Given the description of an element on the screen output the (x, y) to click on. 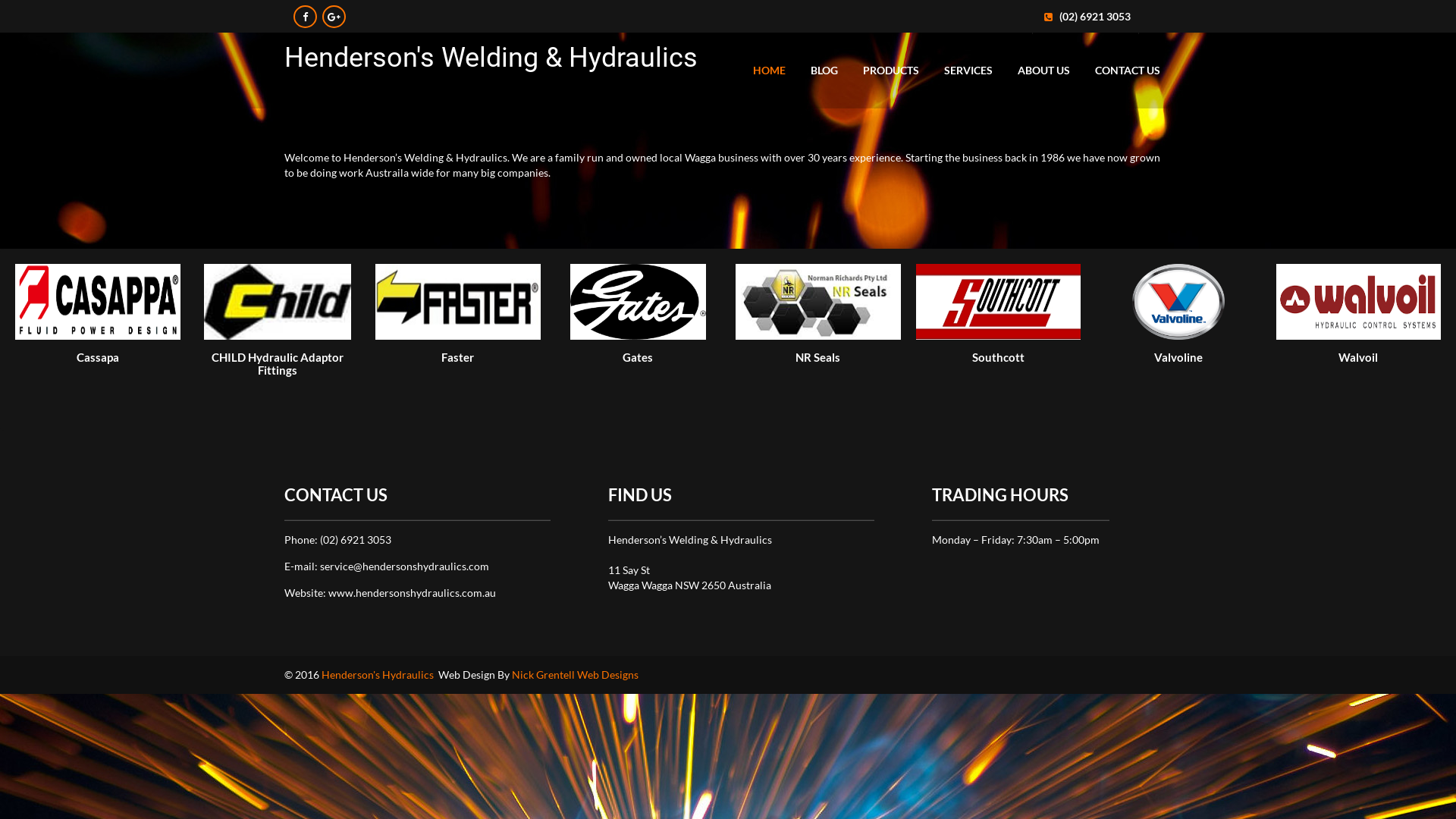
NR Seals Element type: hover (817, 301)
Gates Element type: hover (638, 319)
Gates Element type: hover (638, 301)
Valvoline Element type: hover (1178, 301)
Cassapa Element type: hover (97, 319)
CONTACT US Element type: text (1127, 70)
www.hendersonshydraulics.com.au Element type: text (411, 592)
11 Say St
Wagga Wagga NSW 2650 Australia Element type: text (689, 577)
Faster Element type: hover (457, 301)
Cassapa Element type: hover (97, 301)
BLOG Element type: text (824, 70)
CHILD Hydraulic Adaptor Fittings Element type: hover (277, 319)
Walvoil Element type: hover (1357, 319)
google-plus Element type: hover (333, 16)
Walvoil Element type: hover (1357, 301)
Faster Element type: text (457, 384)
Henderson's Hydraulics Element type: text (377, 674)
CHILD Hydraulic Adaptor Fittings Element type: text (277, 390)
Henderson's Welding & Hydraulics Element type: text (490, 65)
NR Seals Element type: hover (817, 319)
Walvoil Element type: text (1357, 384)
ABOUT US Element type: text (1043, 70)
Southcott Element type: hover (998, 319)
facebook Element type: hover (304, 16)
SERVICES Element type: text (968, 70)
(02) 6921 3053 Element type: text (354, 539)
HOME Element type: text (769, 70)
NR Seals Element type: text (817, 384)
PRODUCTS Element type: text (890, 70)
Southcott Element type: text (998, 384)
Cassapa Element type: text (97, 384)
service@hendersonshydraulics.com Element type: text (404, 565)
Faster Element type: hover (457, 319)
CHILD Hydraulic Adaptor Fittings Element type: hover (277, 301)
Nick Grentell Web Designs Element type: text (574, 674)
Gates Element type: text (637, 384)
Southcott Element type: hover (998, 301)
Valvoline Element type: text (1178, 384)
Valvoline Element type: hover (1178, 319)
